Given the description of an element on the screen output the (x, y) to click on. 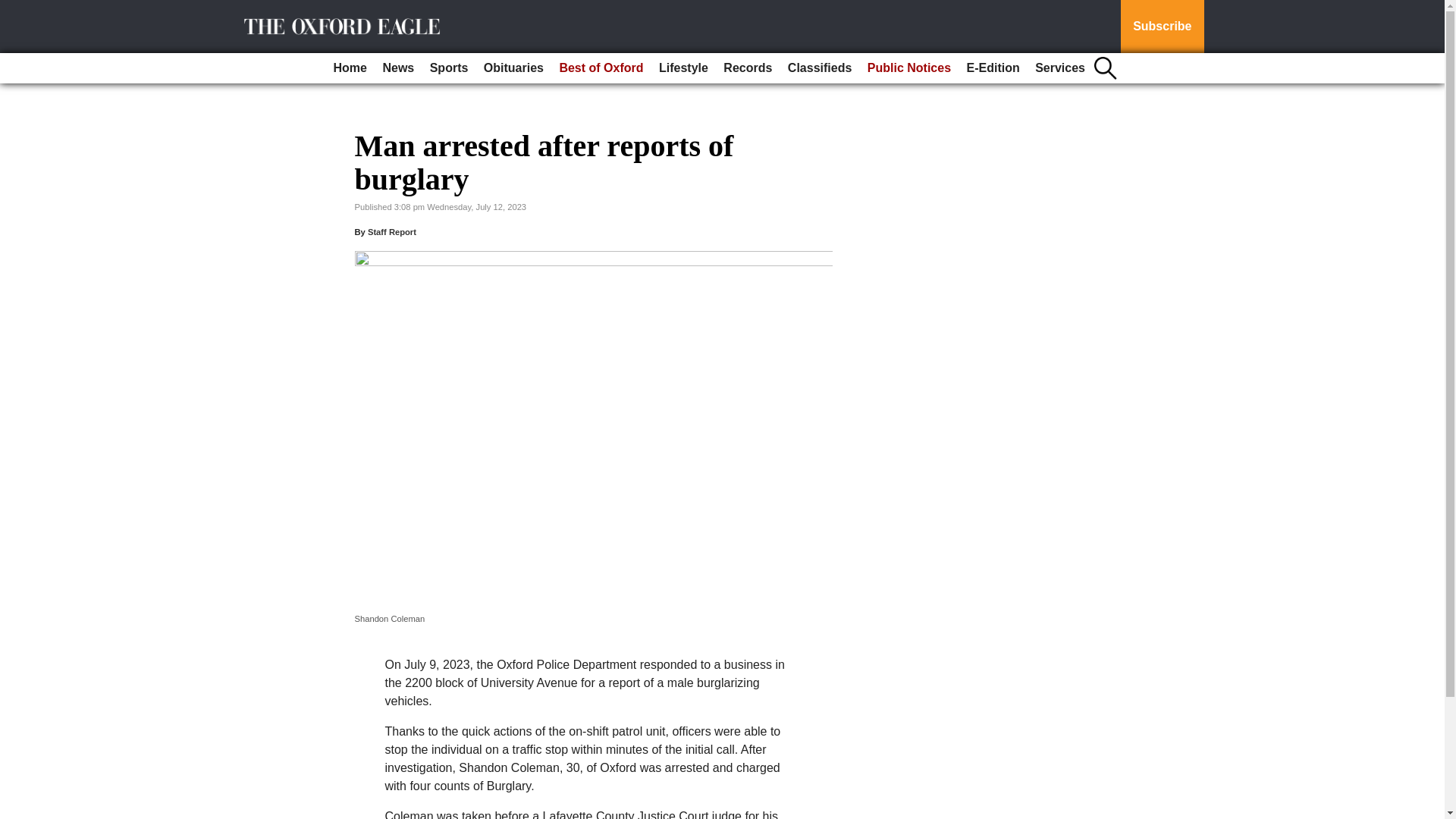
Records (747, 68)
E-Edition (992, 68)
Best of Oxford (601, 68)
Staff Report (392, 231)
Home (349, 68)
Classifieds (819, 68)
News (397, 68)
Public Notices (908, 68)
Go (13, 9)
Obituaries (513, 68)
Services (1059, 68)
Lifestyle (683, 68)
Sports (448, 68)
Subscribe (1162, 26)
